Given the description of an element on the screen output the (x, y) to click on. 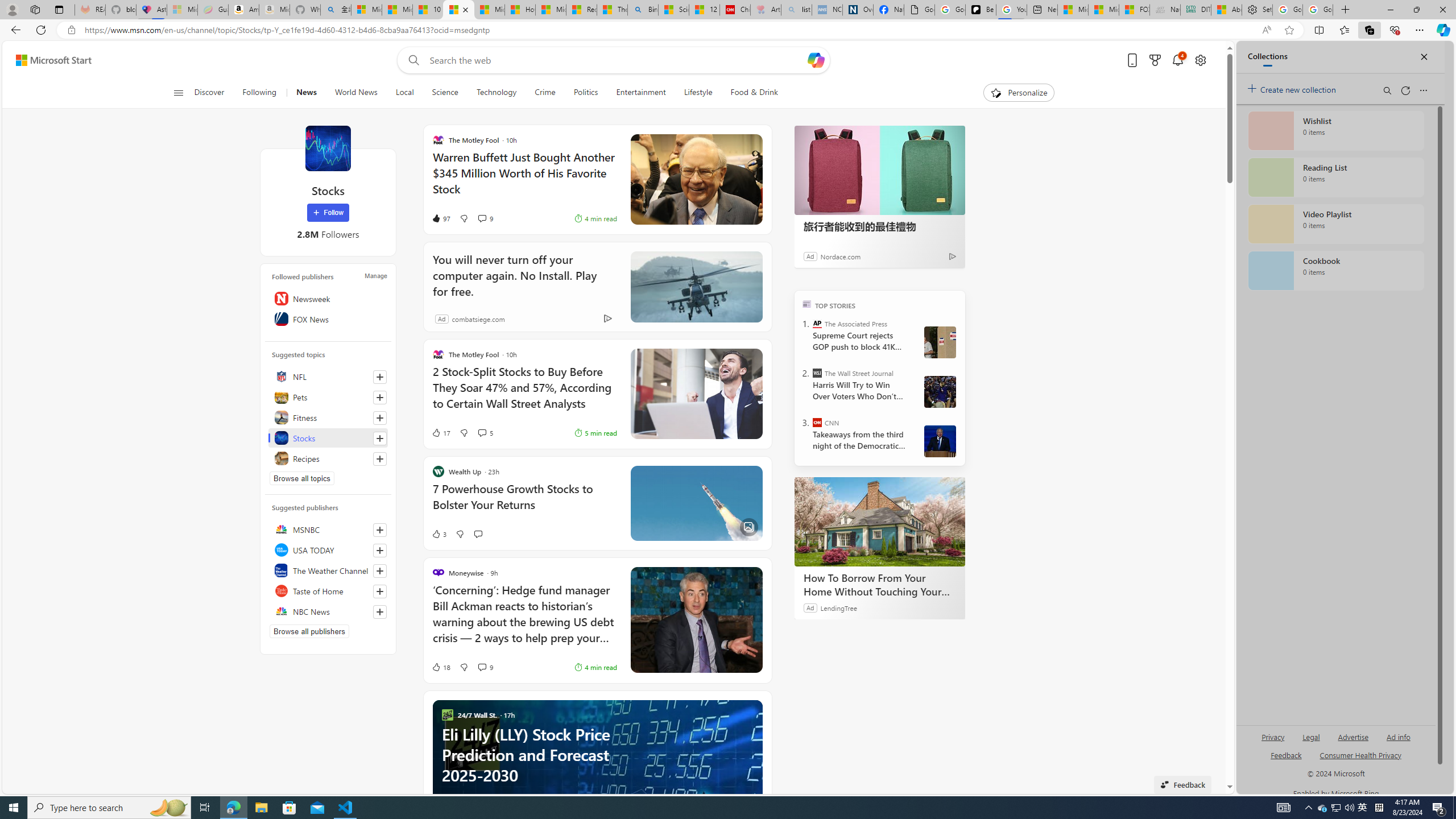
The Weather Channel (327, 570)
Entertainment (641, 92)
The Wall Street Journal (816, 372)
Crime (544, 92)
Microsoft-Report a Concern to Bing - Sleeping (181, 9)
Open settings (1199, 60)
Follow (328, 212)
